Given the description of an element on the screen output the (x, y) to click on. 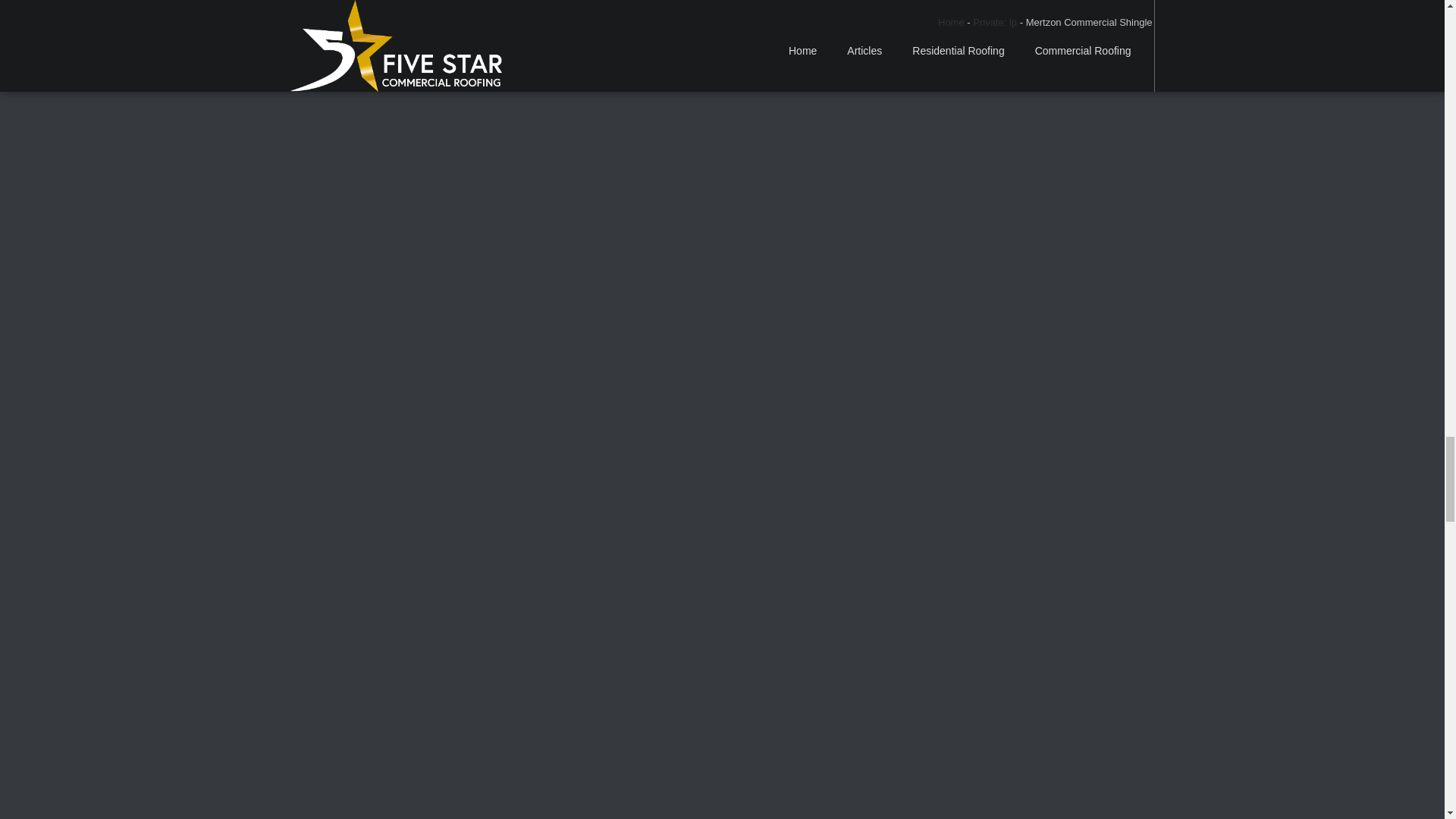
Mertzon Commercial Shingle Roofs 5 (685, 754)
